Given the description of an element on the screen output the (x, y) to click on. 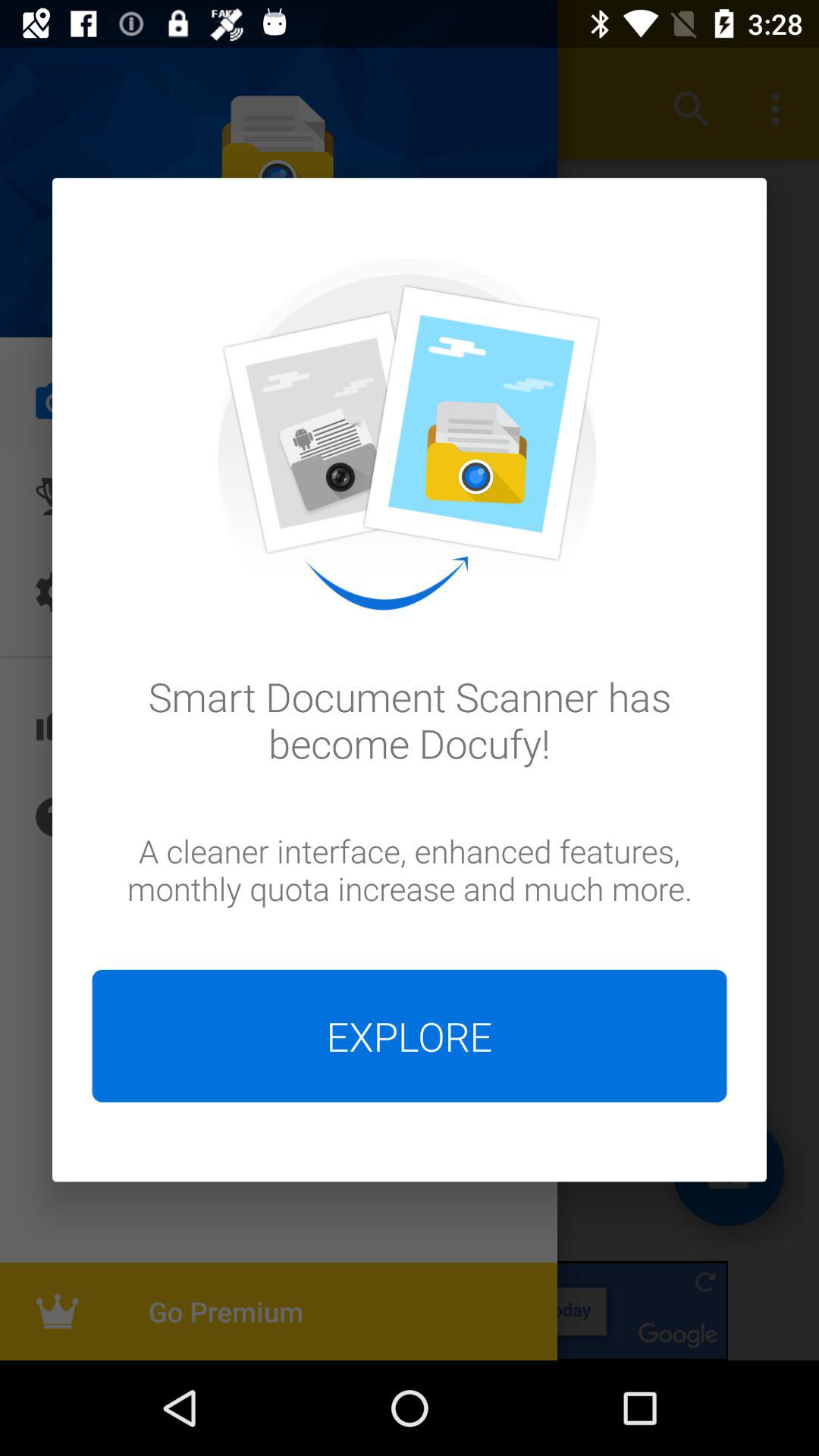
tap explore icon (409, 1035)
